Given the description of an element on the screen output the (x, y) to click on. 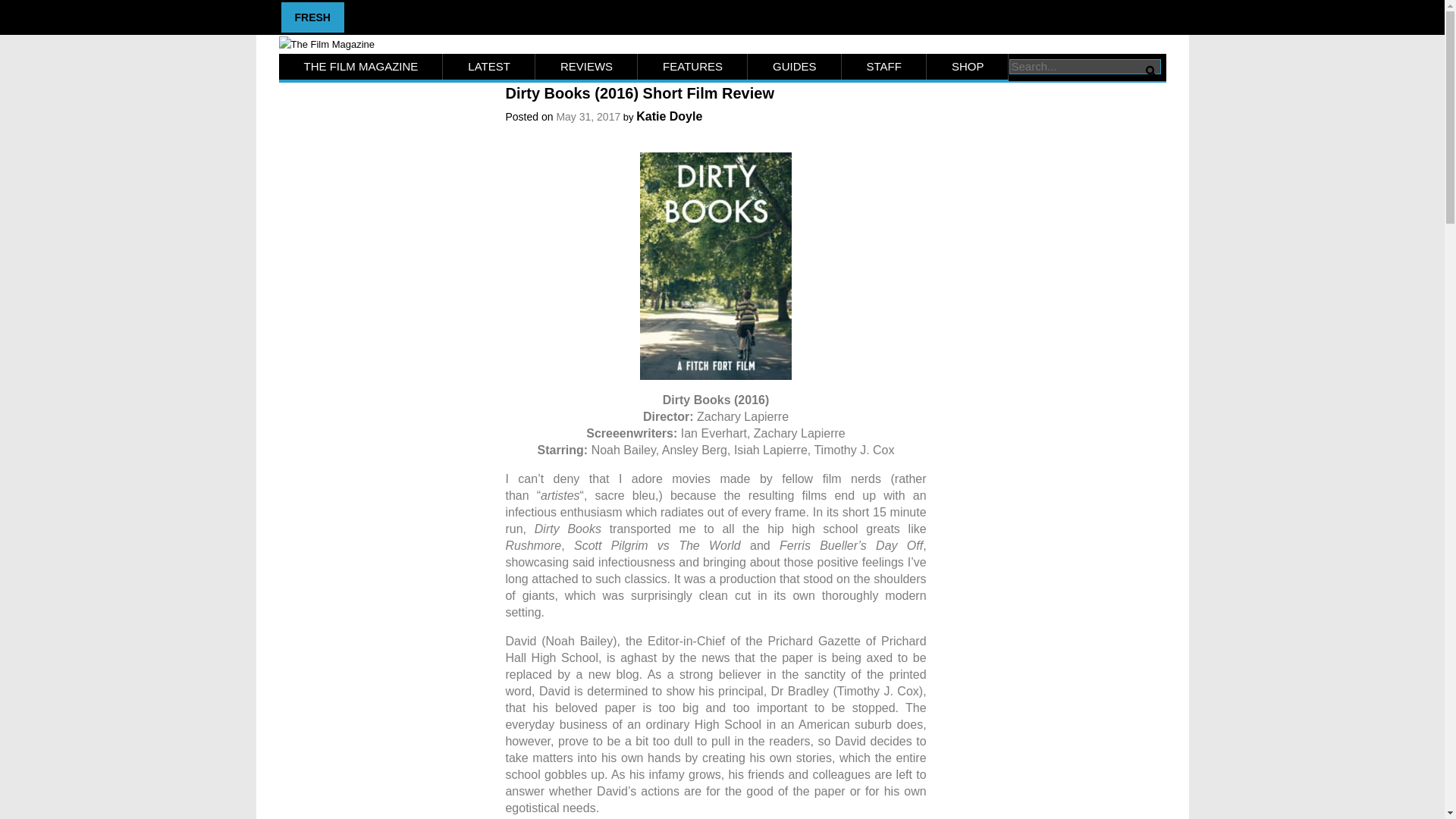
STAFF (883, 66)
LATEST (488, 66)
GUIDES (794, 66)
May 31, 2017 (588, 116)
REVIEWS (586, 66)
Katie Doyle (668, 115)
FEATURES (692, 66)
THE FILM MAGAZINE (361, 66)
SHOP (967, 66)
